Given the description of an element on the screen output the (x, y) to click on. 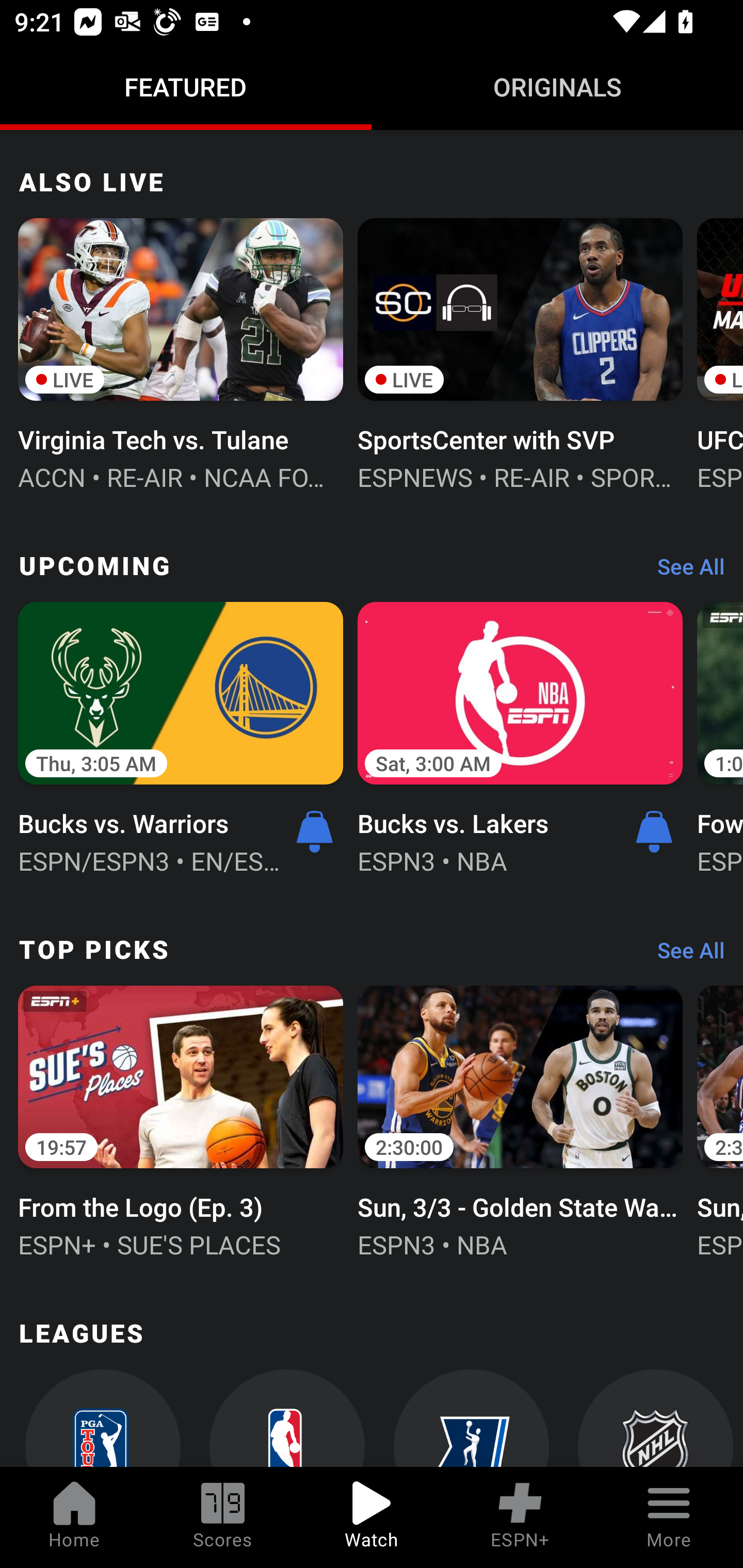
Originals ORIGINALS (557, 86)
See All (683, 571)
See All (683, 954)
19:57 From the Logo (Ep. 3) ESPN+ • SUE'S PLACES (180, 1120)
Home (74, 1517)
Scores (222, 1517)
ESPN+ (519, 1517)
More (668, 1517)
